Given the description of an element on the screen output the (x, y) to click on. 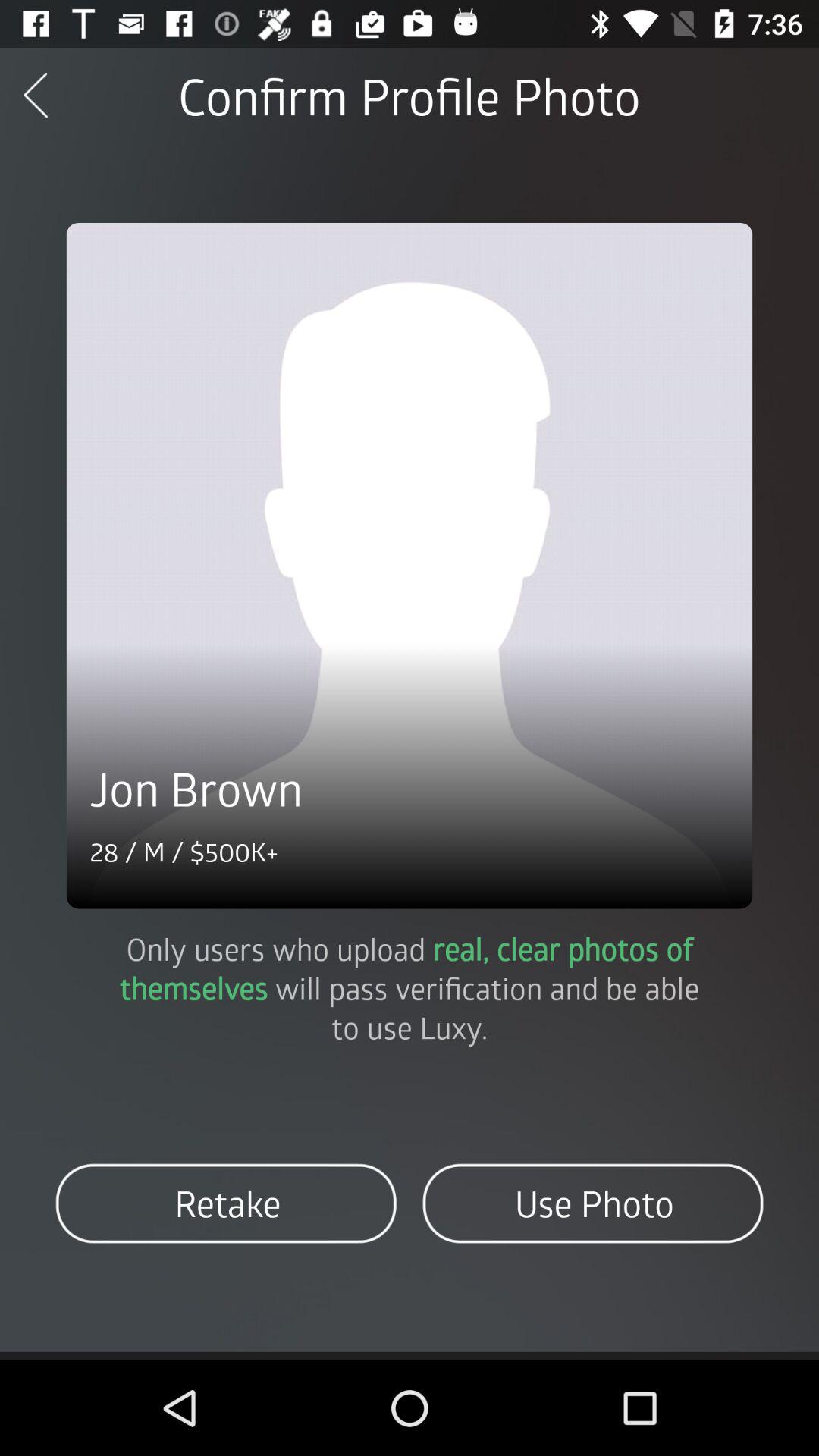
open confirm profile photo (409, 95)
